Given the description of an element on the screen output the (x, y) to click on. 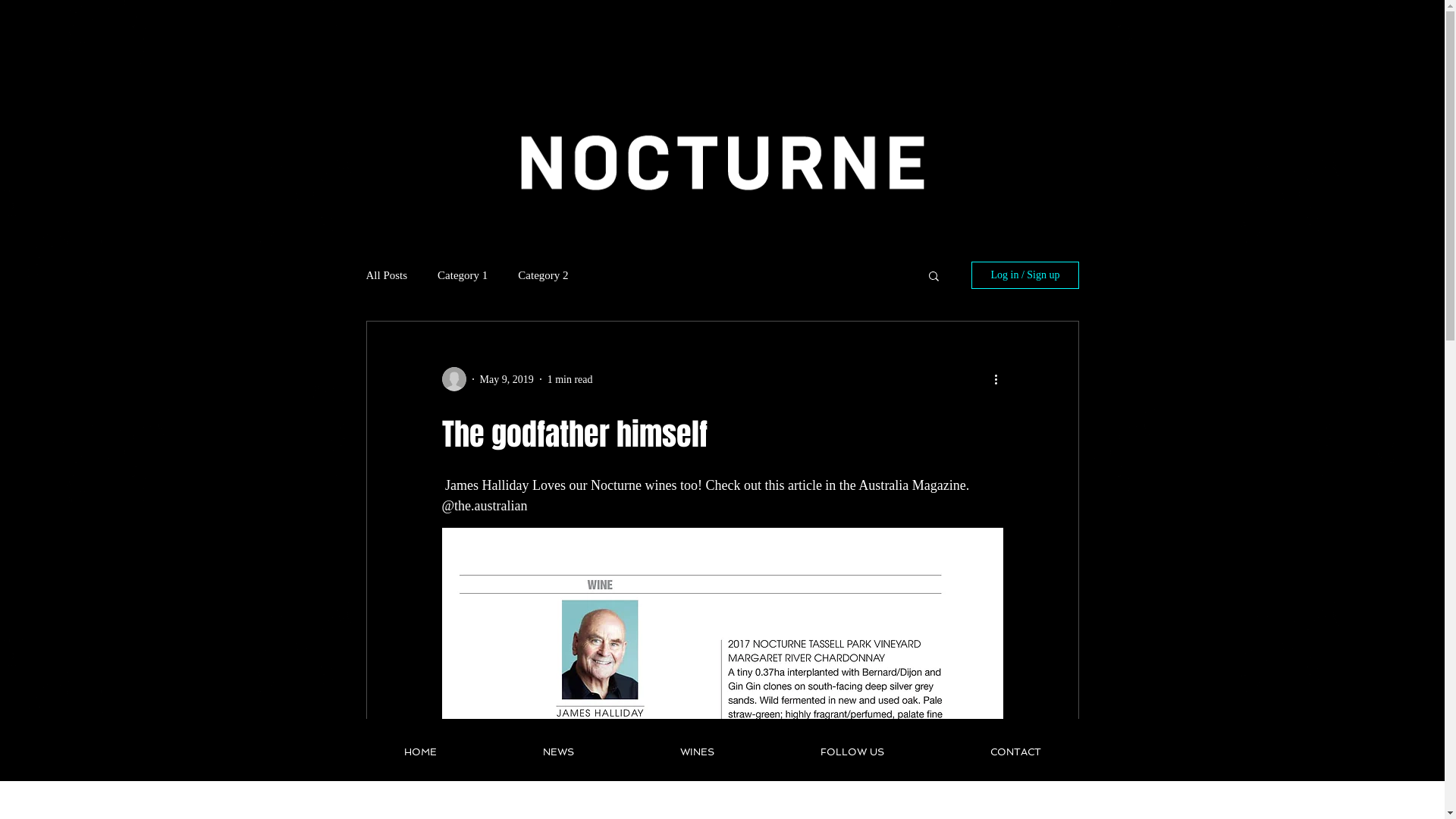
Category 2 Element type: text (542, 274)
NEWS Element type: text (558, 752)
HOME Element type: text (419, 752)
Category 1 Element type: text (462, 274)
FOLLOW US Element type: text (852, 752)
WINES Element type: text (696, 752)
All Posts Element type: text (386, 274)
CONTACT Element type: text (1015, 752)
Log in / Sign up Element type: text (1024, 274)
